Given the description of an element on the screen output the (x, y) to click on. 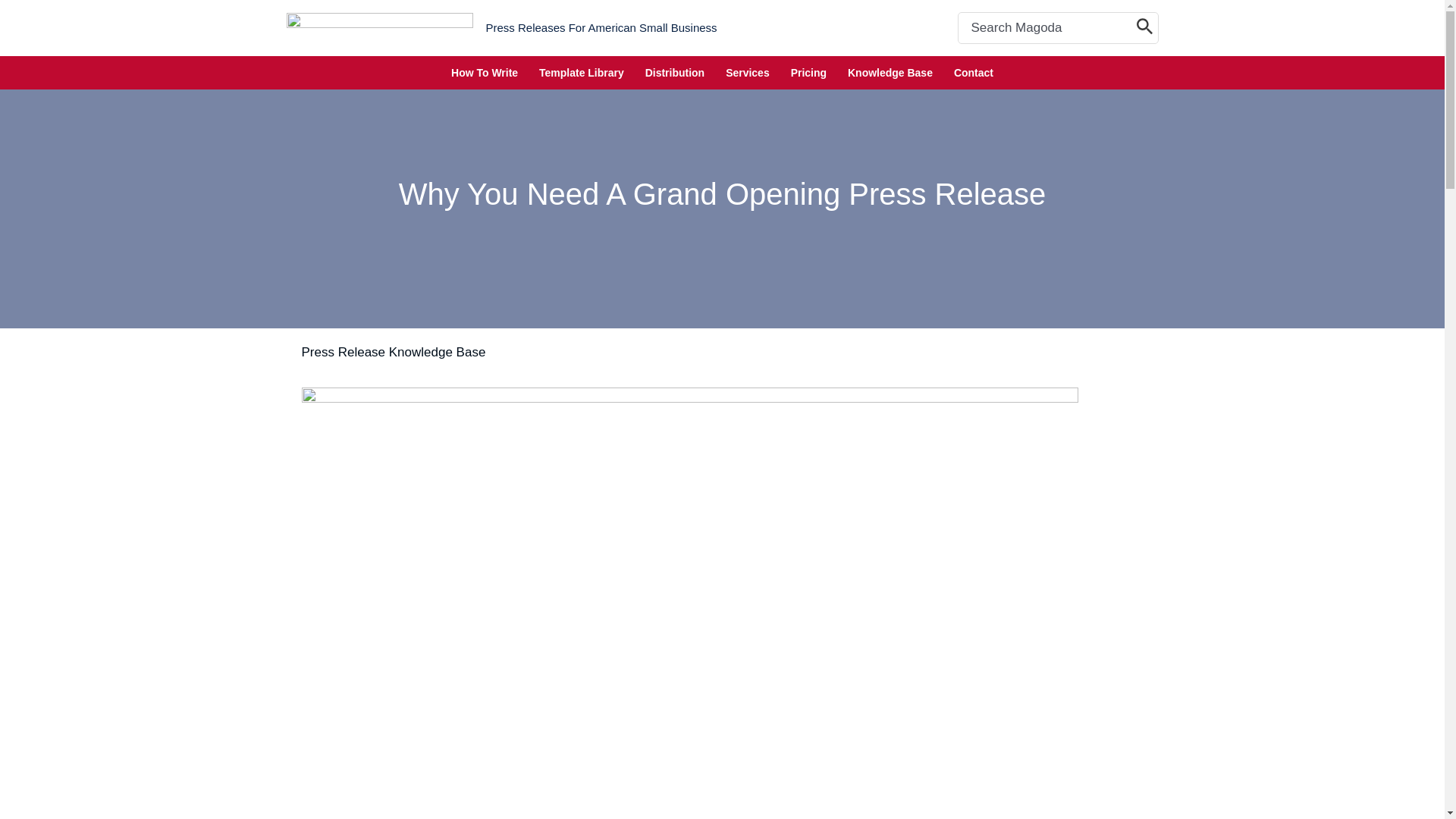
Contact (973, 72)
Press Release Knowledge Base (393, 351)
How To Write (484, 72)
Distribution (674, 72)
Template Library (581, 72)
Knowledge Base (890, 72)
Pricing (808, 72)
Services (747, 72)
